Given the description of an element on the screen output the (x, y) to click on. 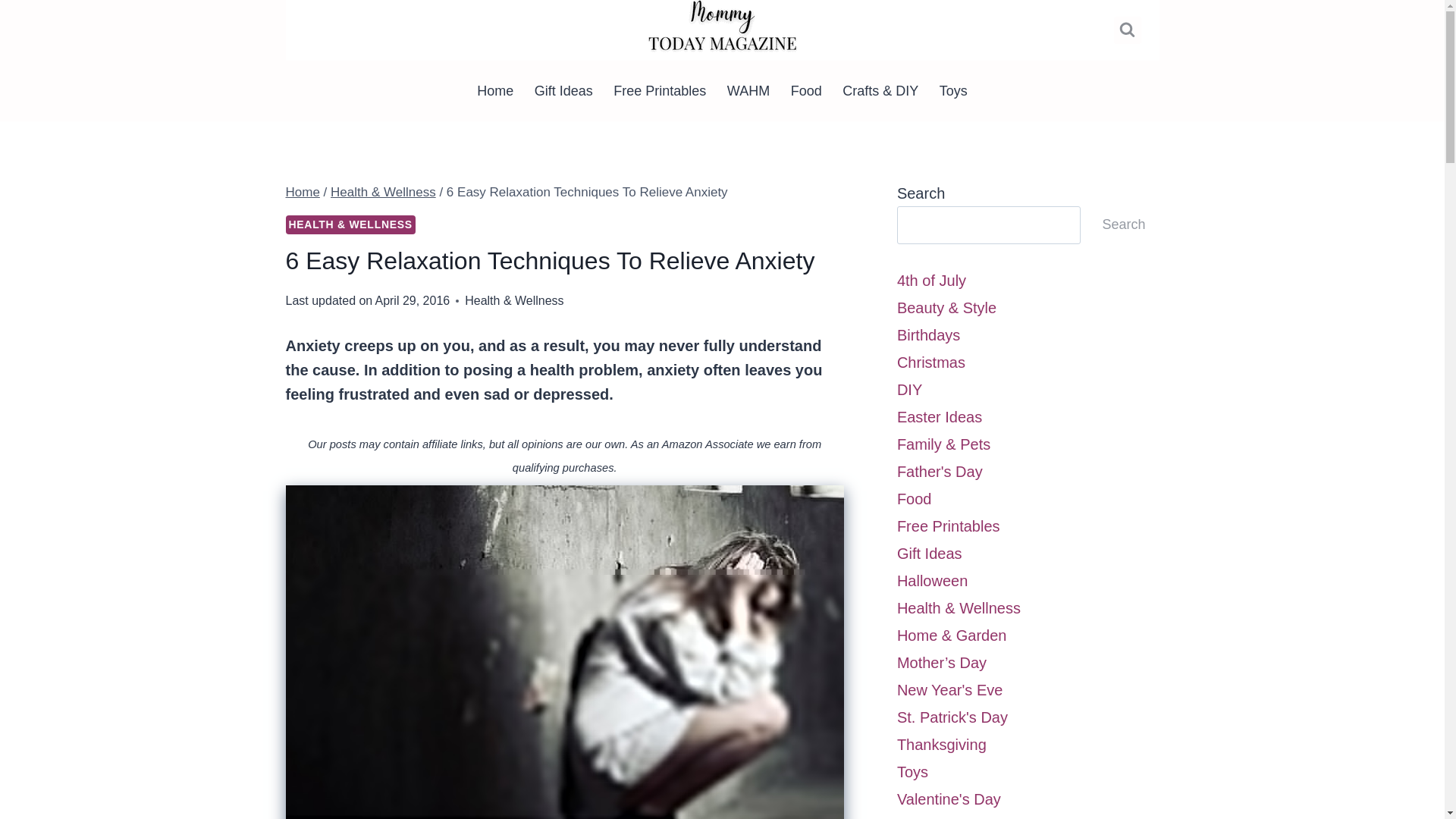
Gift Ideas (564, 90)
Toys (953, 90)
Home (494, 90)
Food (806, 90)
WAHM (748, 90)
Free Printables (660, 90)
Home (301, 192)
